Given the description of an element on the screen output the (x, y) to click on. 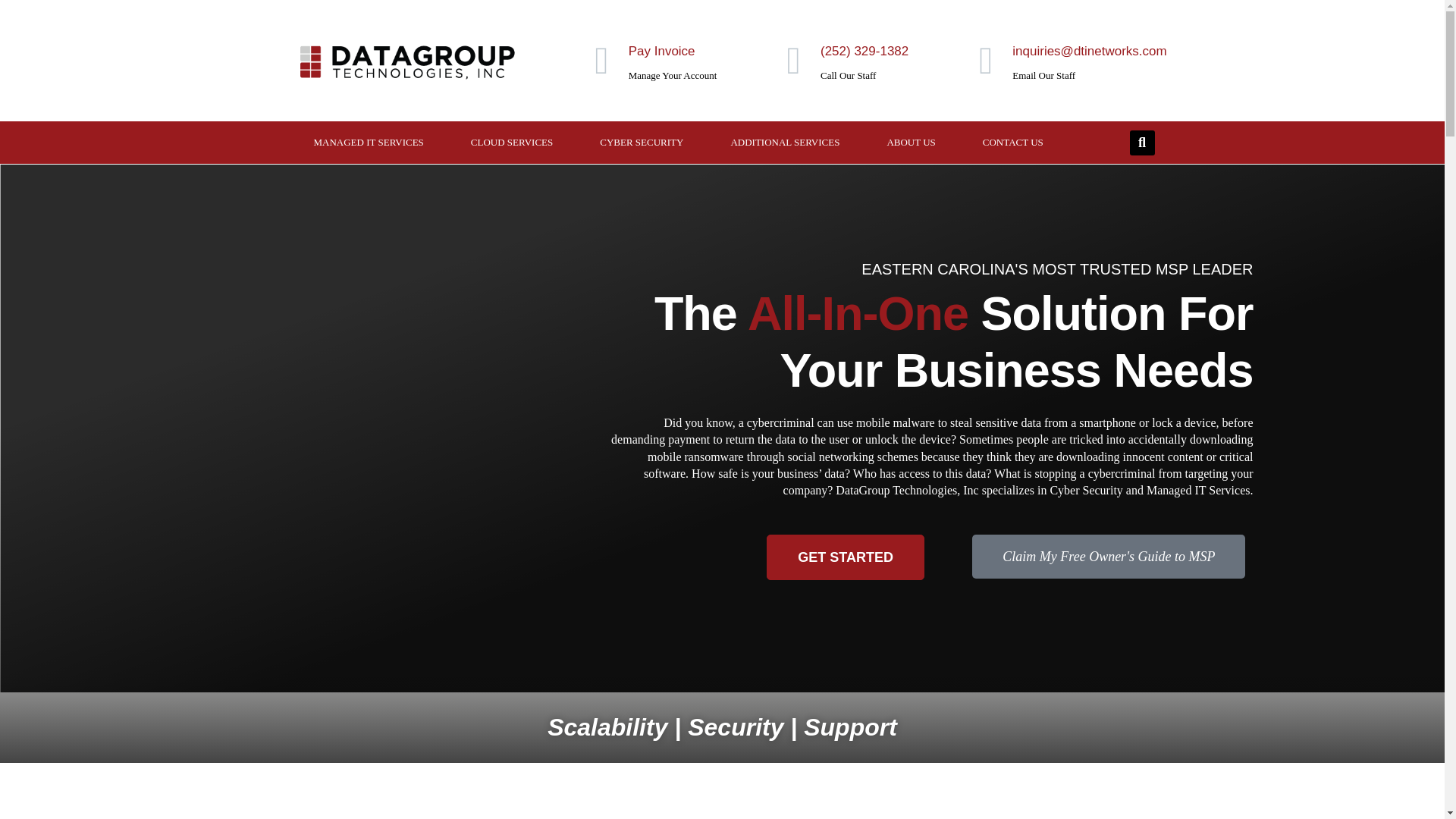
Claim My Free Owner's Guide to MSP (1108, 556)
ABOUT US (910, 142)
ADDITIONAL SERVICES (784, 142)
Pay Invoice (661, 51)
CLOUD SERVICES (511, 142)
MANAGED IT SERVICES (367, 142)
CONTACT US (1013, 142)
GET STARTED (845, 556)
CYBER SECURITY (641, 142)
